Given the description of an element on the screen output the (x, y) to click on. 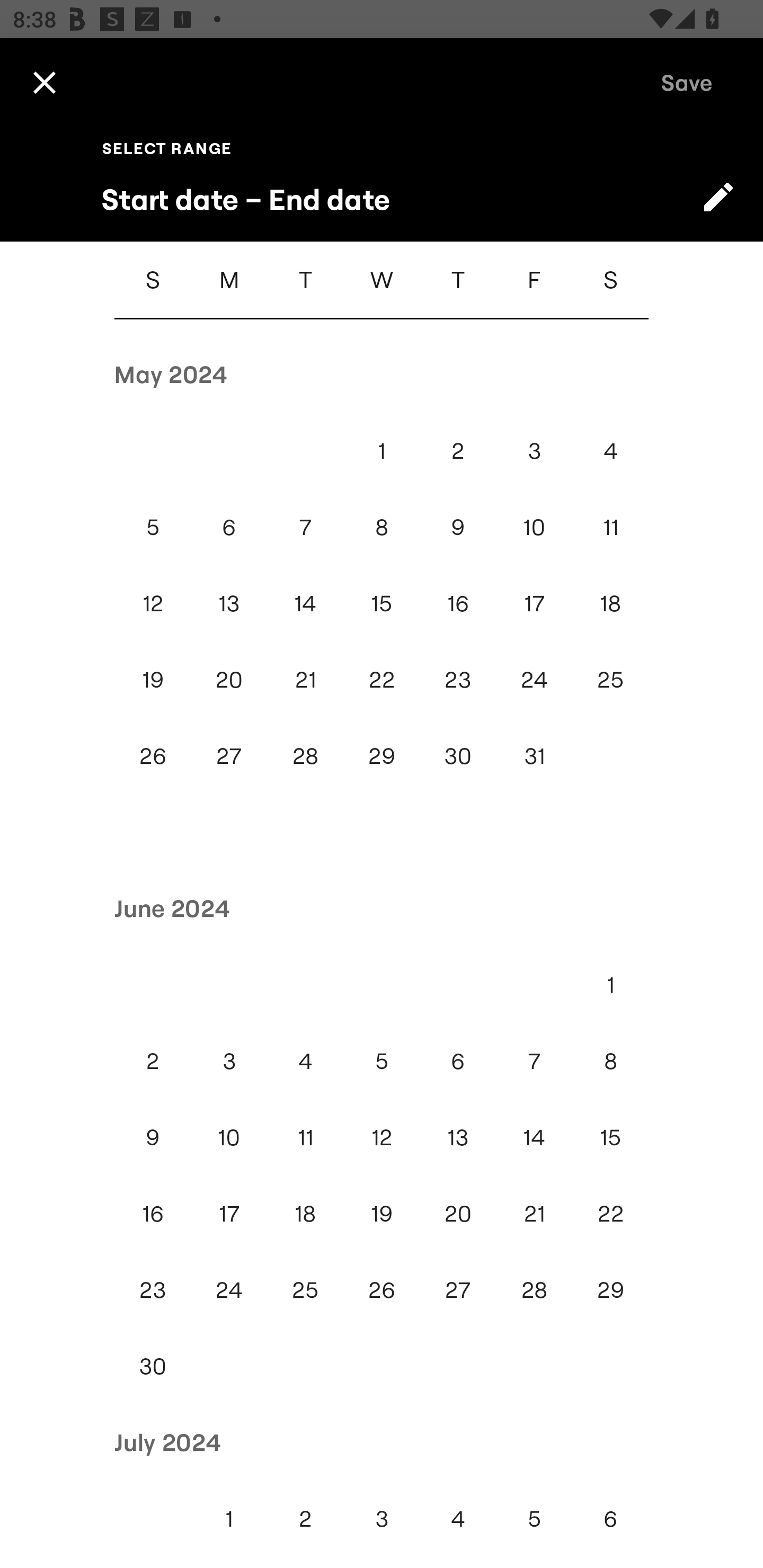
Cancel (44, 81)
Save (686, 81)
Switch to text input mode (718, 196)
1 Wed, May 1 (381, 450)
2 Thu, May 2 (457, 450)
3 Fri, May 3 (533, 450)
4 Sat, May 4 (610, 450)
5 Sun, May 5 (152, 526)
6 Mon, May 6 (228, 526)
7 Tue, May 7 (305, 526)
8 Wed, May 8 (381, 526)
9 Thu, May 9 (457, 526)
10 Fri, May 10 (533, 526)
11 Sat, May 11 (610, 526)
12 Sun, May 12 (152, 602)
13 Mon, May 13 (228, 602)
14 Tue, May 14 (305, 602)
15 Wed, May 15 (381, 602)
16 Thu, May 16 (457, 602)
17 Fri, May 17 (533, 602)
18 Sat, May 18 (610, 602)
19 Sun, May 19 (152, 679)
20 Mon, May 20 (228, 679)
21 Tue, May 21 (305, 679)
22 Wed, May 22 (381, 679)
23 Thu, May 23 (457, 679)
24 Fri, May 24 (533, 679)
25 Sat, May 25 (610, 679)
26 Sun, May 26 (152, 755)
27 Mon, May 27 (228, 755)
28 Tue, May 28 (305, 755)
29 Wed, May 29 (381, 755)
30 Thu, May 30 (457, 755)
31 Fri, May 31 (533, 755)
1 Sat, Jun 1 (610, 984)
2 Sun, Jun 2 (152, 1060)
3 Mon, Jun 3 (228, 1060)
4 Tue, Jun 4 (305, 1060)
5 Wed, Jun 5 (381, 1060)
6 Thu, Jun 6 (457, 1060)
7 Fri, Jun 7 (533, 1060)
8 Sat, Jun 8 (610, 1060)
9 Sun, Jun 9 (152, 1137)
10 Mon, Jun 10 (228, 1137)
11 Tue, Jun 11 (305, 1137)
12 Wed, Jun 12 (381, 1137)
13 Thu, Jun 13 (457, 1137)
14 Fri, Jun 14 (533, 1137)
15 Sat, Jun 15 (610, 1137)
16 Sun, Jun 16 (152, 1213)
17 Mon, Jun 17 (228, 1213)
18 Tue, Jun 18 (305, 1213)
19 Wed, Jun 19 (381, 1213)
20 Thu, Jun 20 (457, 1213)
21 Fri, Jun 21 (533, 1213)
22 Sat, Jun 22 (610, 1213)
23 Sun, Jun 23 (152, 1289)
24 Mon, Jun 24 (228, 1289)
25 Tue, Jun 25 (305, 1289)
26 Wed, Jun 26 (381, 1289)
27 Thu, Jun 27 (457, 1289)
28 Fri, Jun 28 (533, 1289)
29 Sat, Jun 29 (610, 1289)
30 Sun, Jun 30 (152, 1366)
1 Mon, Jul 1 (228, 1518)
2 Tue, Jul 2 (305, 1518)
3 Wed, Jul 3 (381, 1518)
4 Thu, Jul 4 (457, 1518)
5 Fri, Jul 5 (533, 1518)
6 Sat, Jul 6 (610, 1518)
